Given the description of an element on the screen output the (x, y) to click on. 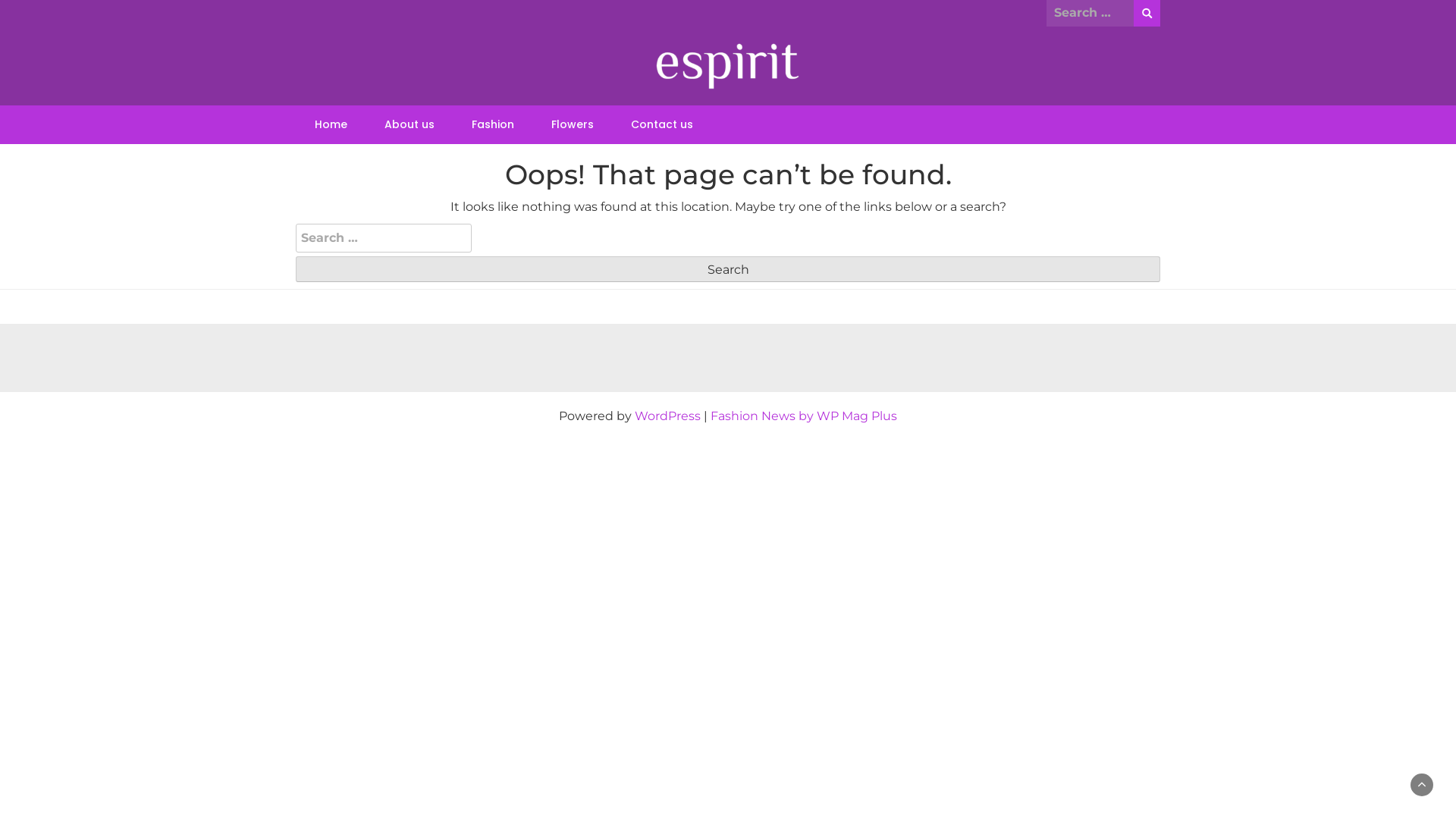
Search for: Element type: hover (383, 237)
Flowers Element type: text (572, 124)
Search for: Element type: hover (1089, 12)
Fashion Element type: text (492, 124)
Home Element type: text (330, 124)
Search Element type: text (1146, 13)
About us Element type: text (409, 124)
Contact us Element type: text (661, 124)
Fashion News by WP Mag Plus Element type: text (803, 415)
WordPress Element type: text (667, 415)
Search Element type: text (727, 269)
